Given the description of an element on the screen output the (x, y) to click on. 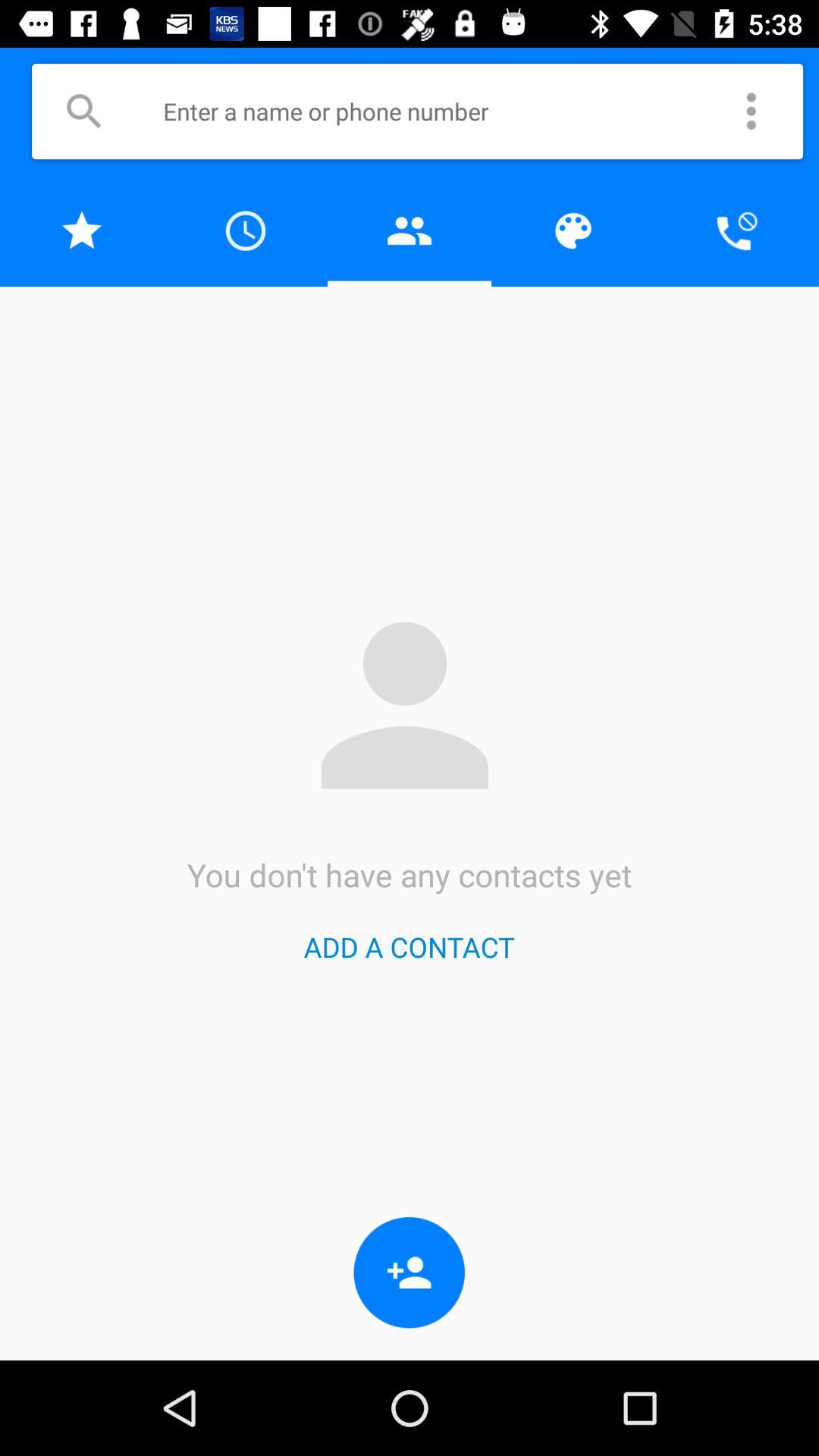
select app below add a contact app (409, 1272)
